Given the description of an element on the screen output the (x, y) to click on. 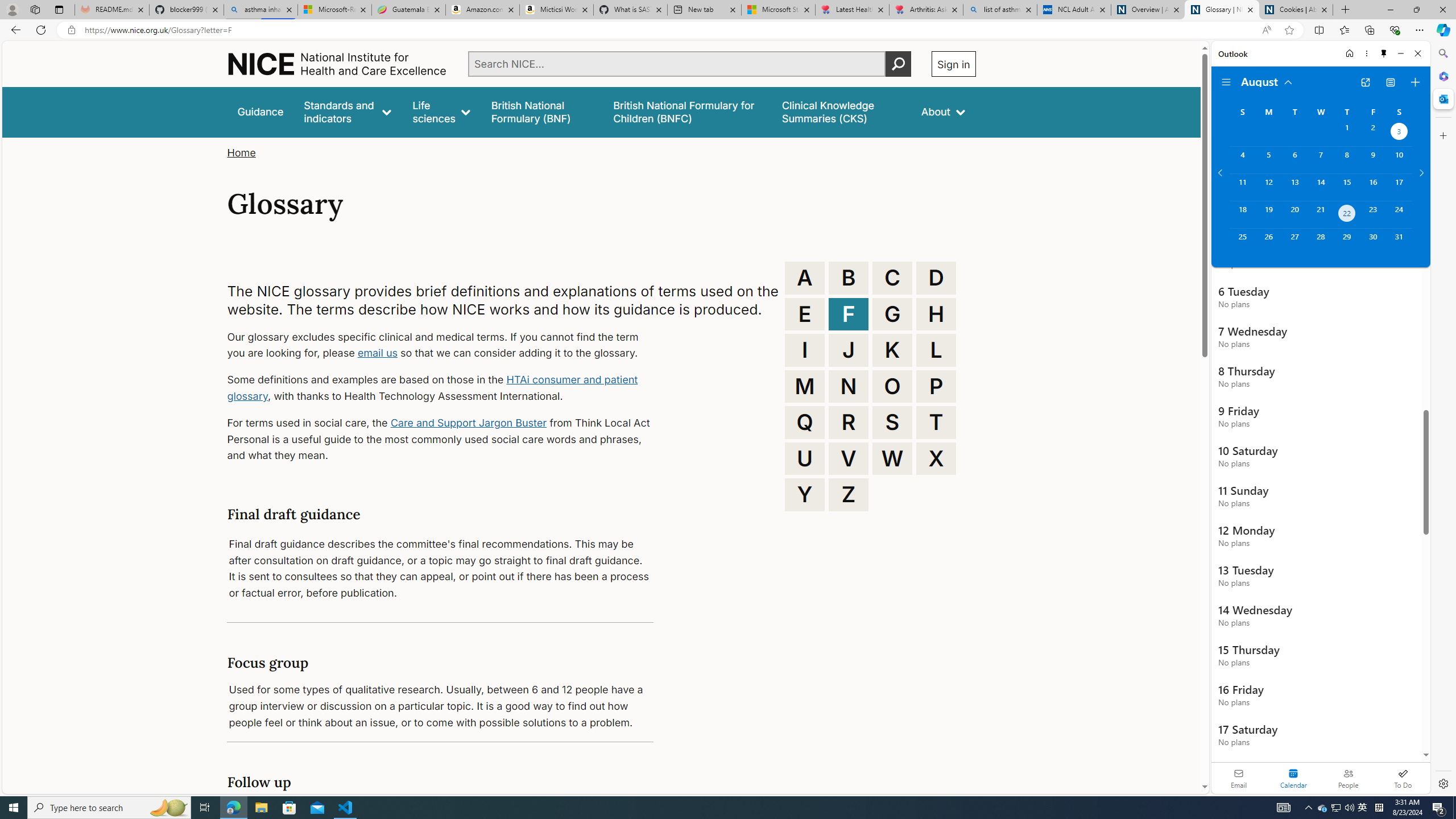
Y (804, 494)
W (892, 458)
Y (804, 494)
People (1347, 777)
To Do (1402, 777)
V (848, 458)
Q (804, 422)
